Given the description of an element on the screen output the (x, y) to click on. 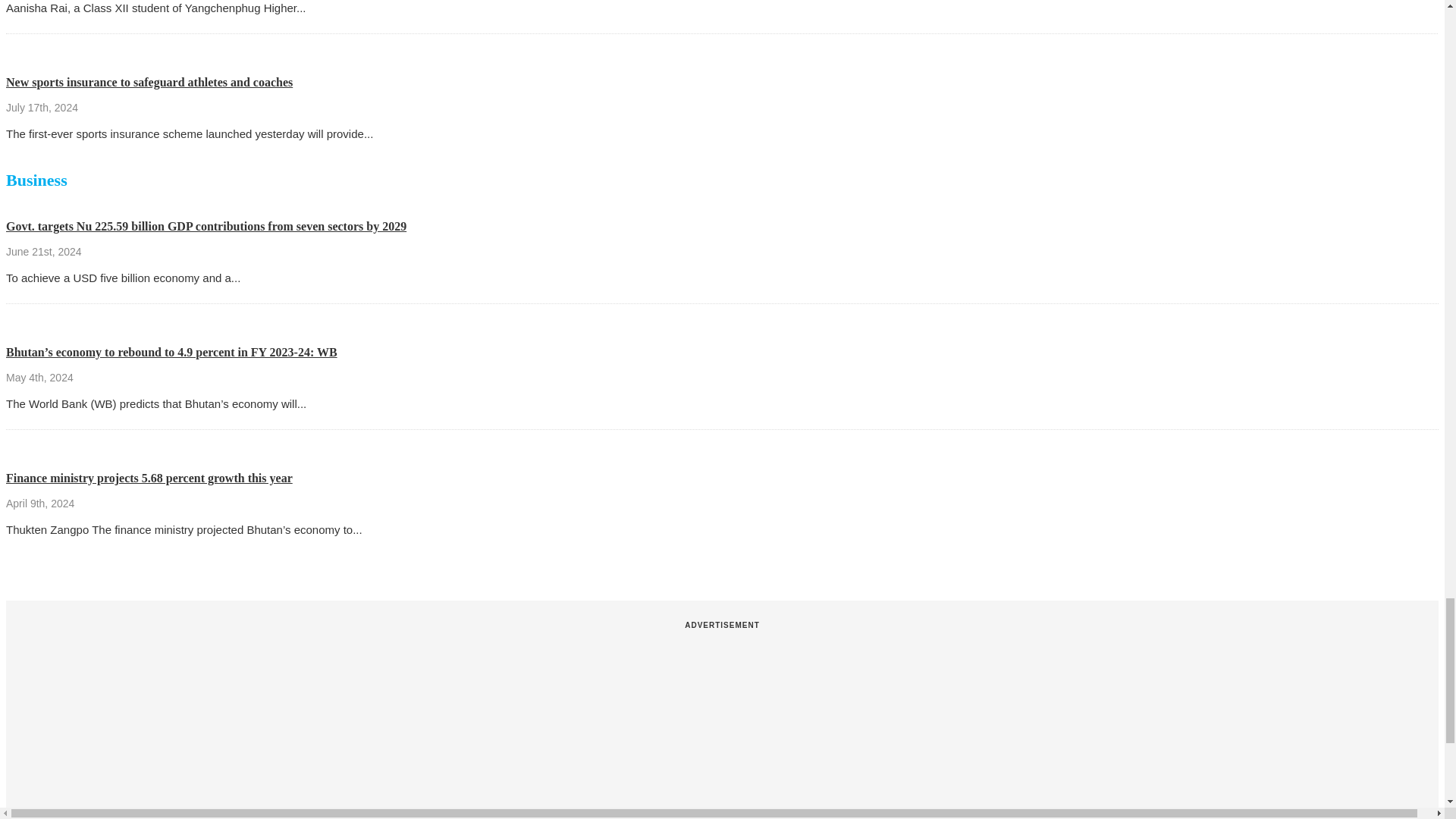
New sports insurance to safeguard athletes and coaches (148, 82)
Finance ministry projects 5.68 percent growth this year (148, 477)
